Given the description of an element on the screen output the (x, y) to click on. 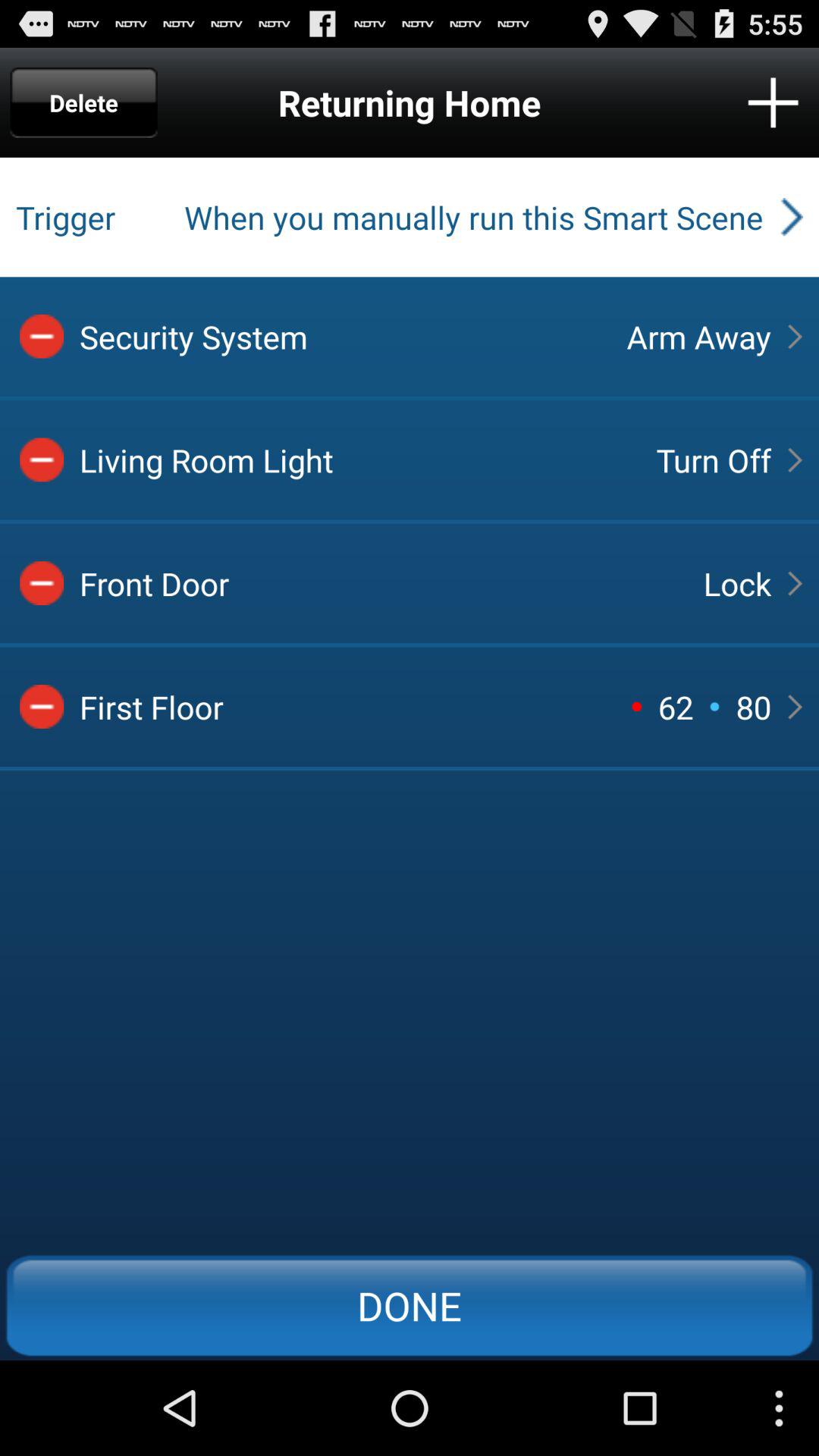
turn on security system item (339, 336)
